Given the description of an element on the screen output the (x, y) to click on. 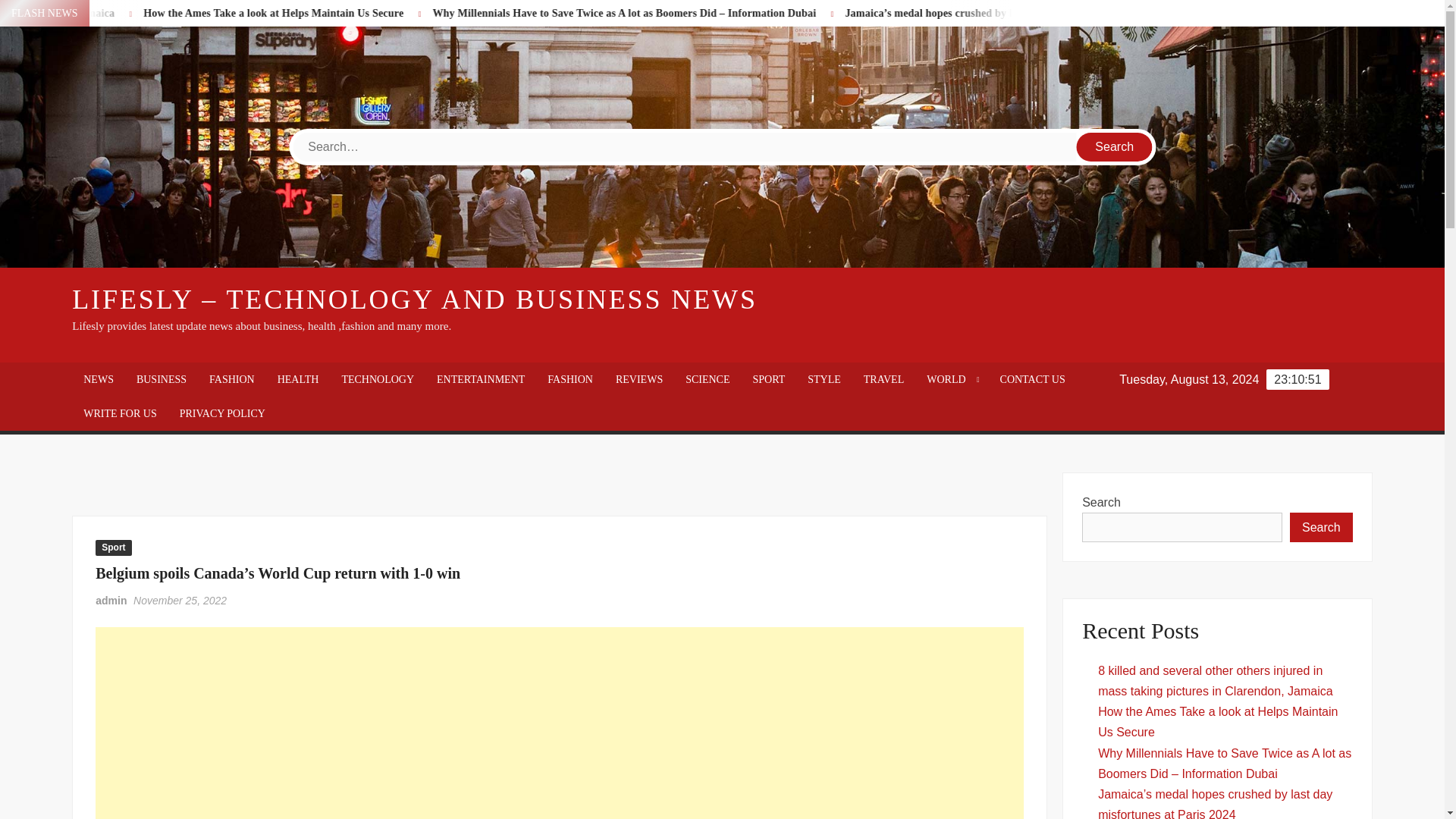
How the Ames Take a look at Helps Maintain Us Secure (429, 12)
How the Ames Take a look at Helps Maintain Us Secure (498, 12)
Search (1115, 146)
Search (1115, 146)
